Given the description of an element on the screen output the (x, y) to click on. 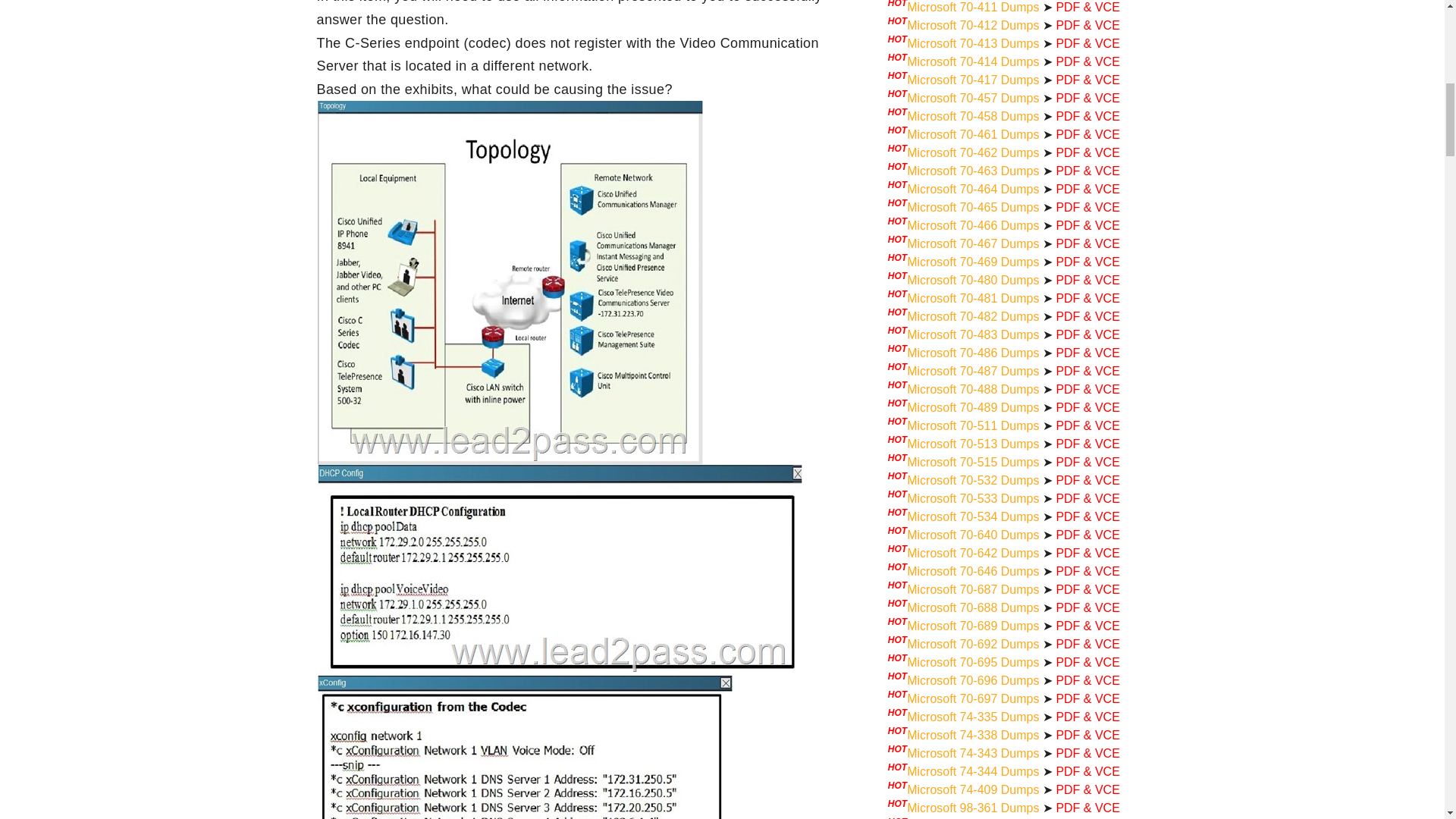
223 (524, 747)
222 (559, 570)
